Given the description of an element on the screen output the (x, y) to click on. 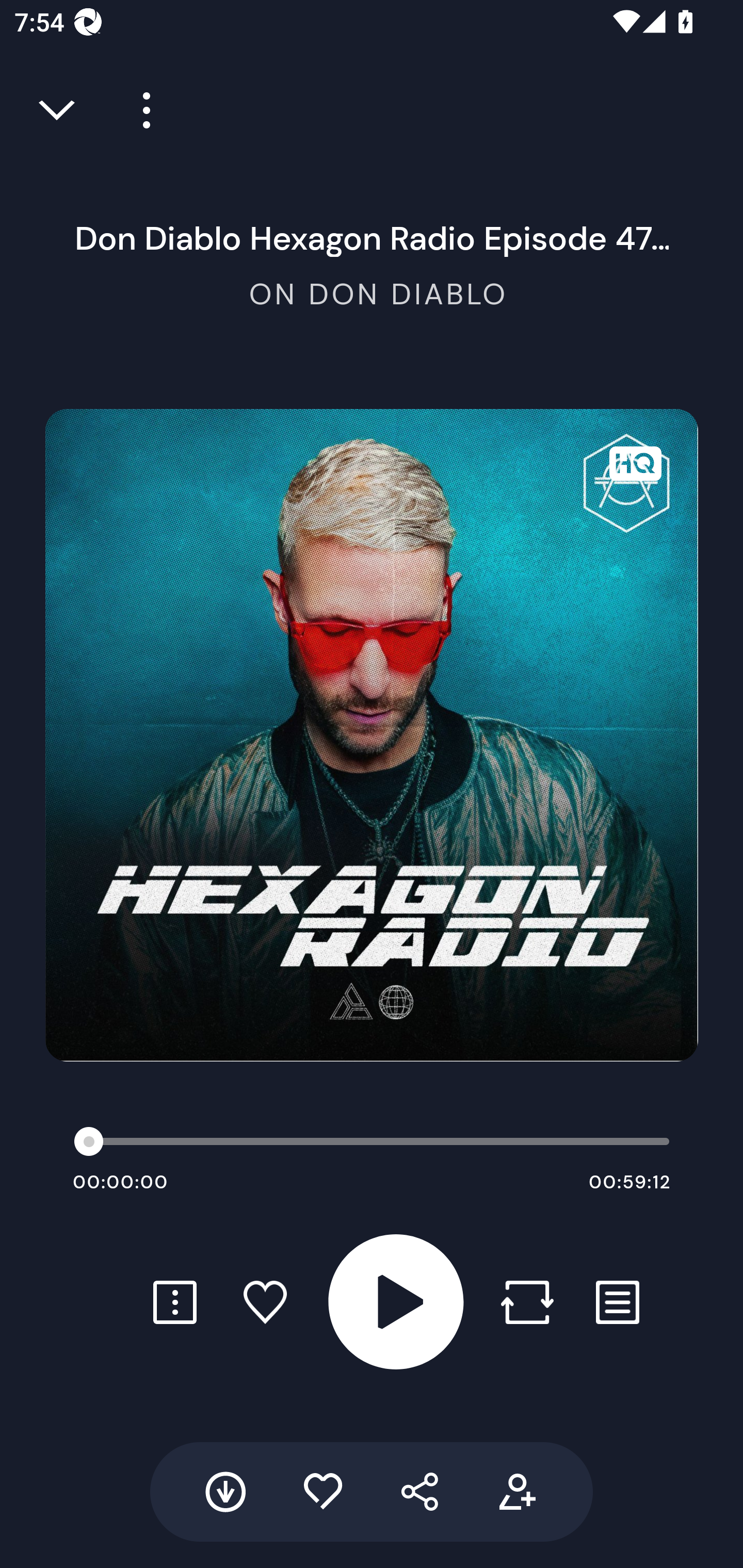
Close full player (58, 110)
Player more options button (139, 110)
Repost button (527, 1301)
